Given the description of an element on the screen output the (x, y) to click on. 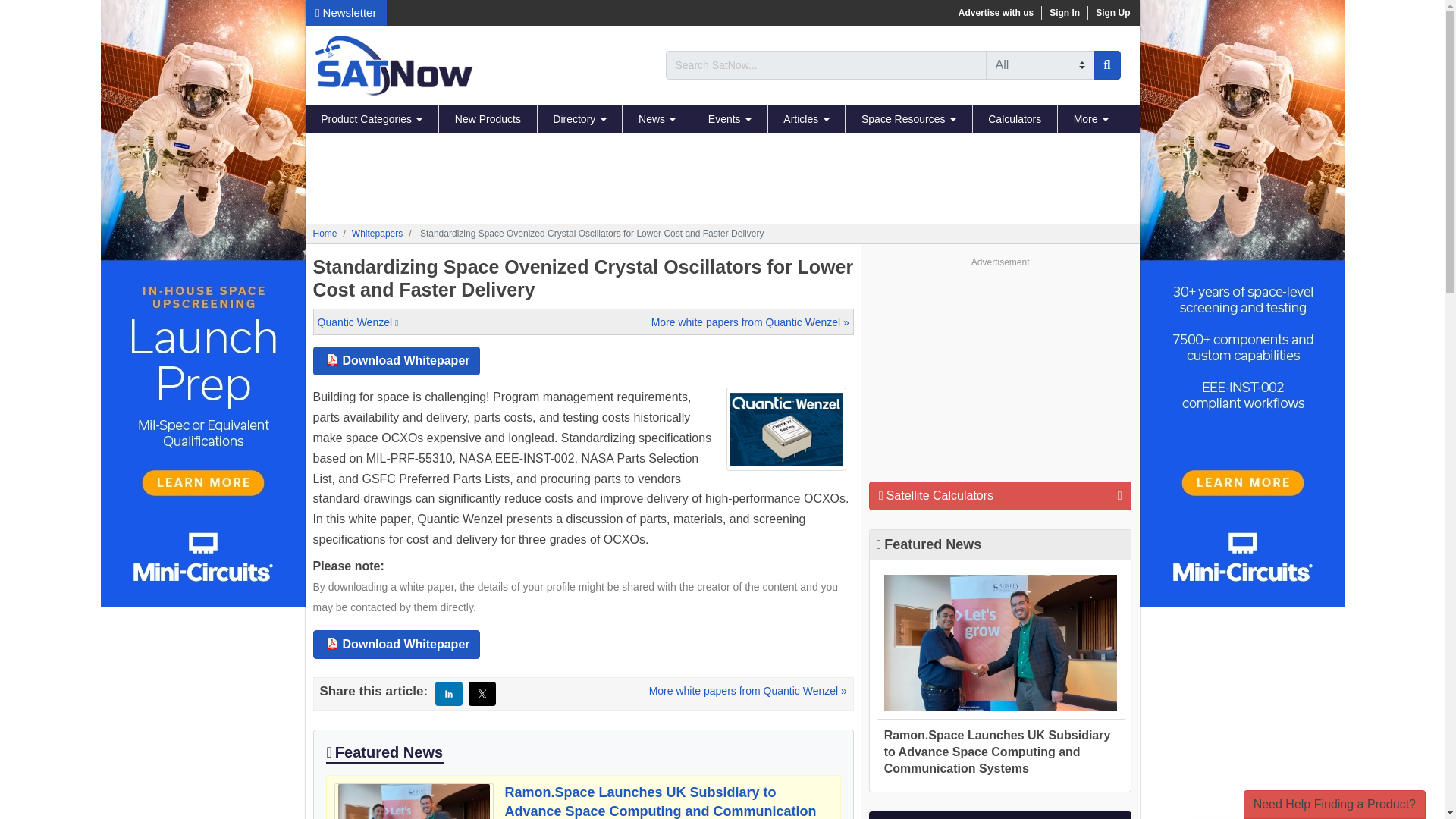
3rd party ad content (721, 178)
3rd party ad content (999, 367)
Sign In (1064, 12)
Product Categories (371, 119)
Newsletter (345, 12)
Sign Up (1112, 12)
Advertise with us (995, 12)
